Given the description of an element on the screen output the (x, y) to click on. 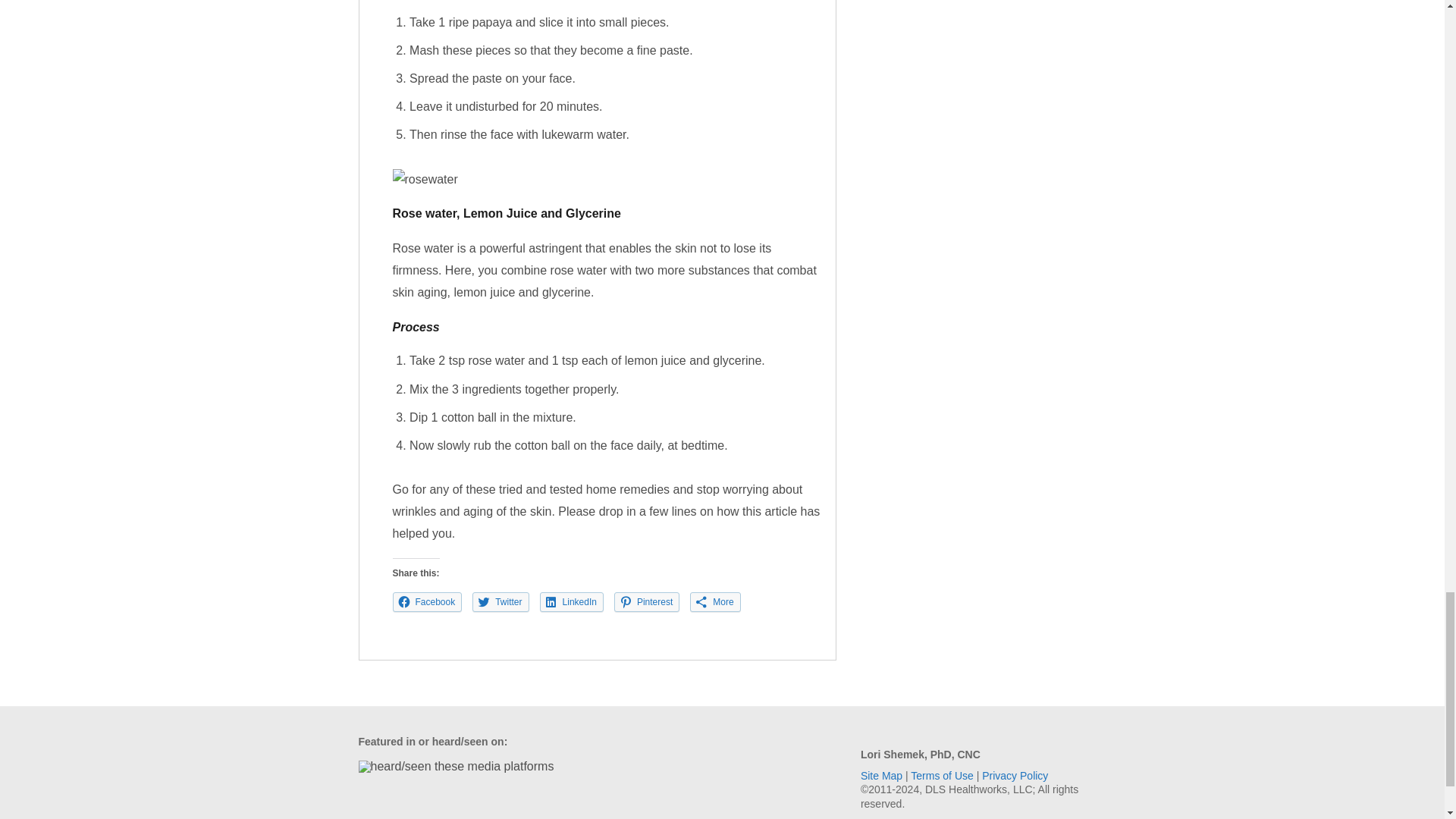
Click to share on Pinterest (646, 601)
Click to share on Twitter (499, 601)
Facebook (428, 601)
Click to share on LinkedIn (572, 601)
Pinterest (646, 601)
Twitter (499, 601)
LinkedIn (572, 601)
Click to share on Facebook (428, 601)
More (714, 601)
